Given the description of an element on the screen output the (x, y) to click on. 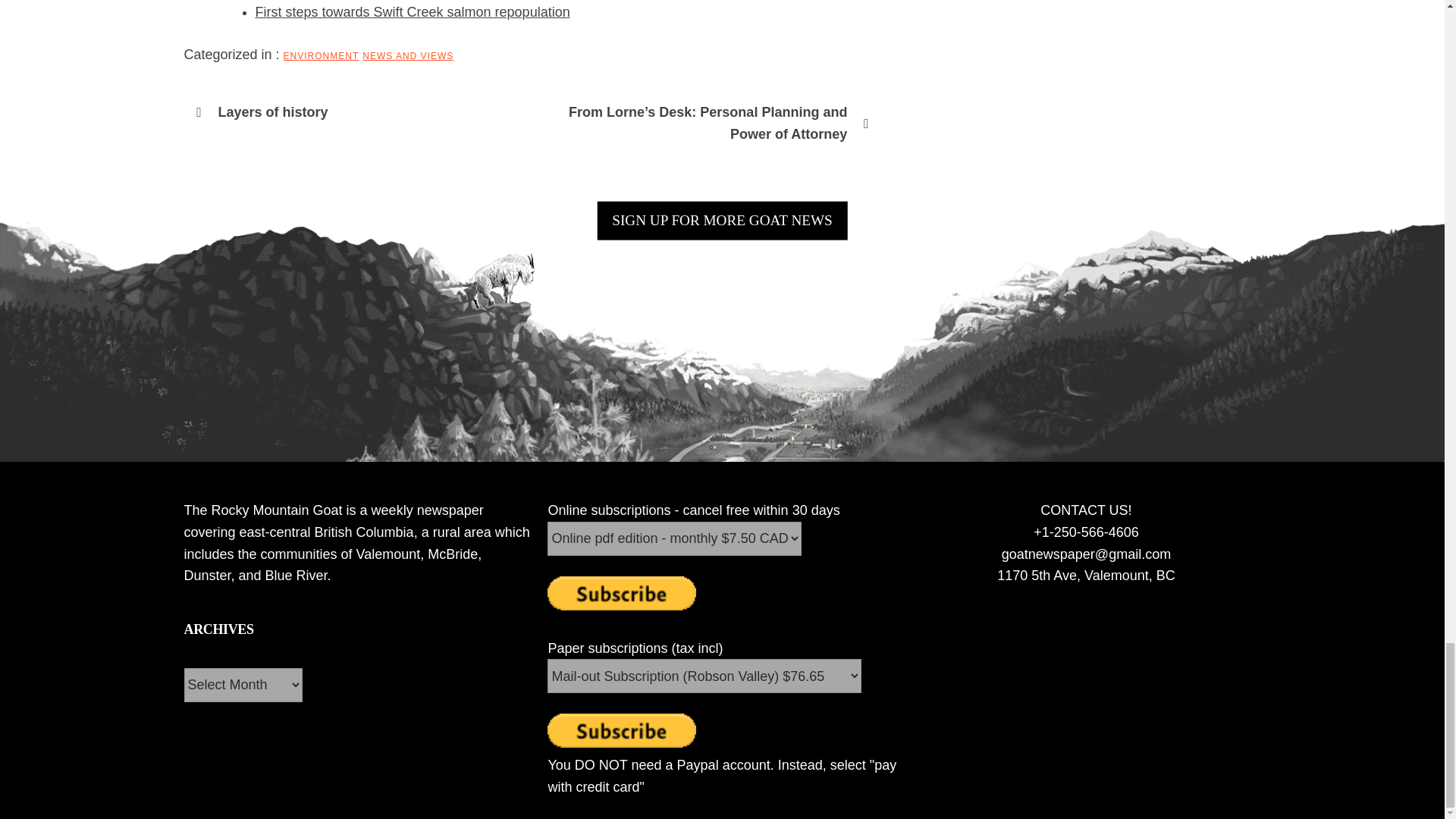
PayPal - The safer, easier way to pay online! (621, 730)
PayPal - The safer, easier way to pay online! (621, 593)
